Given the description of an element on the screen output the (x, y) to click on. 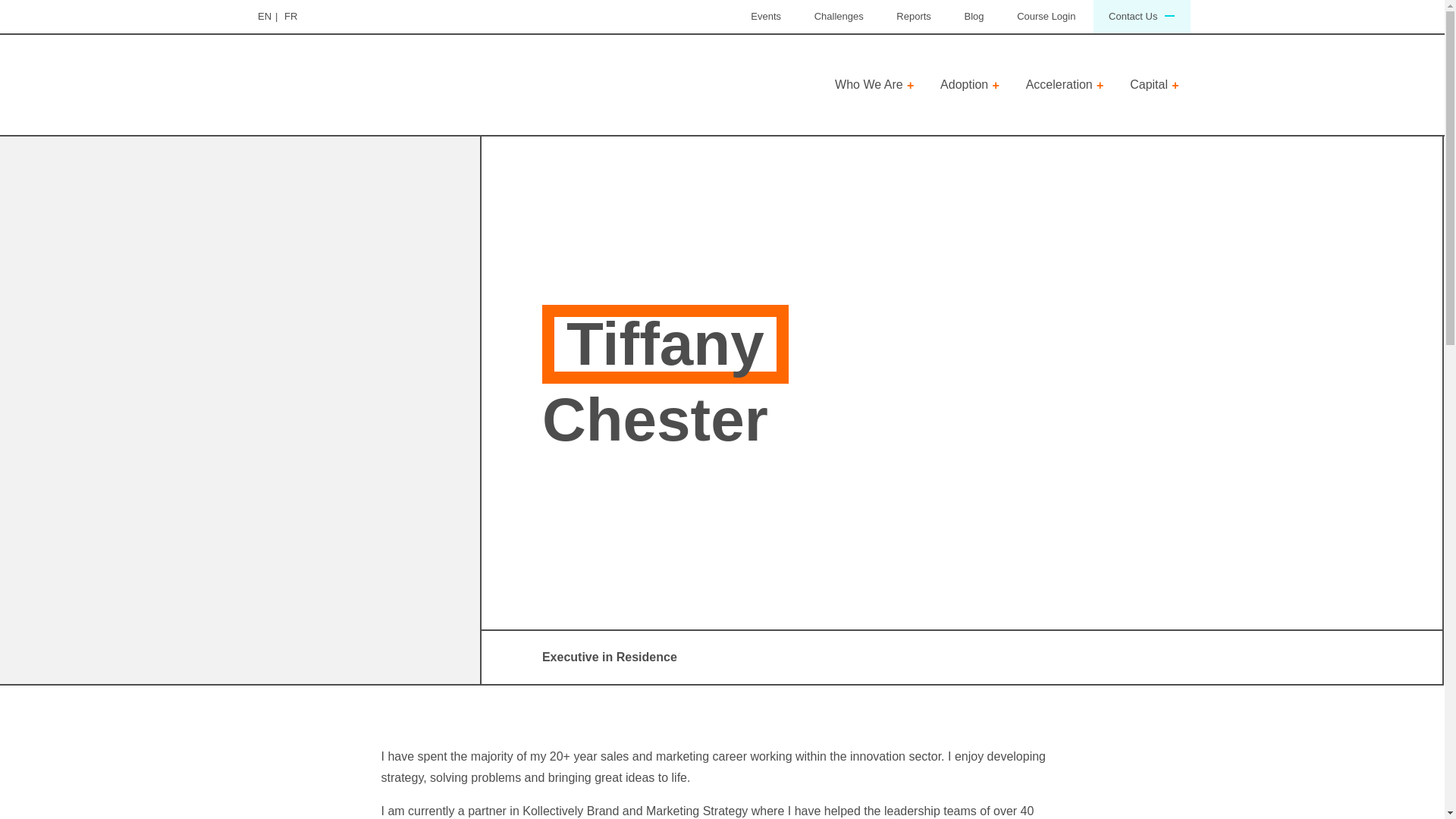
Acceleration (1064, 84)
Course Login (1045, 16)
Foresight client course login (1045, 16)
Events (765, 16)
Reports (913, 16)
Adoption (969, 84)
Foresight Reports (913, 16)
Foresight Ecosystem Events (765, 16)
Contact Us (1142, 16)
Who We Are (875, 84)
